Given the description of an element on the screen output the (x, y) to click on. 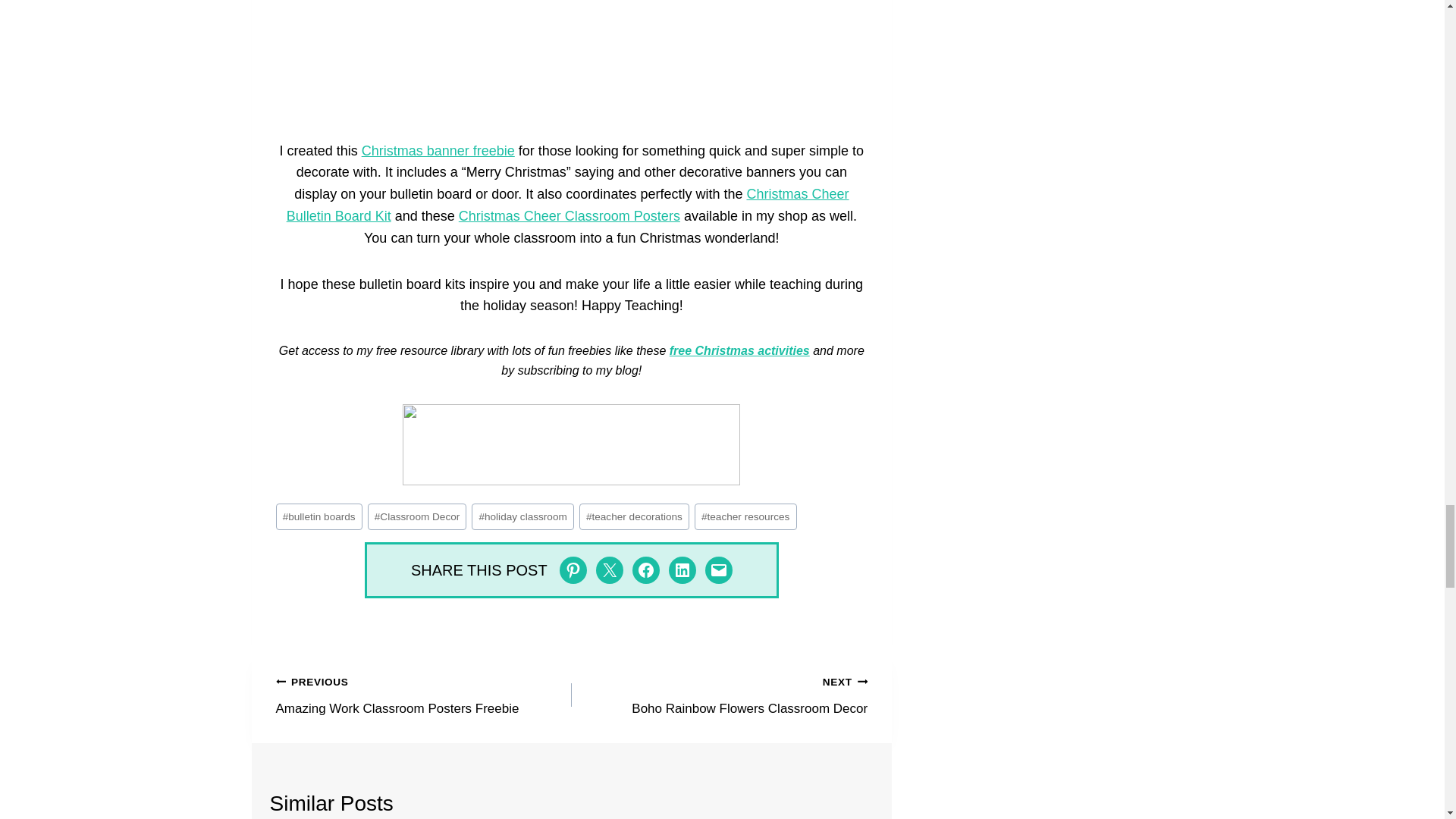
holiday classroom (522, 516)
Classroom Decor (417, 516)
teacher resources (745, 516)
teacher decorations (633, 516)
bulletin boards (319, 516)
